Given the description of an element on the screen output the (x, y) to click on. 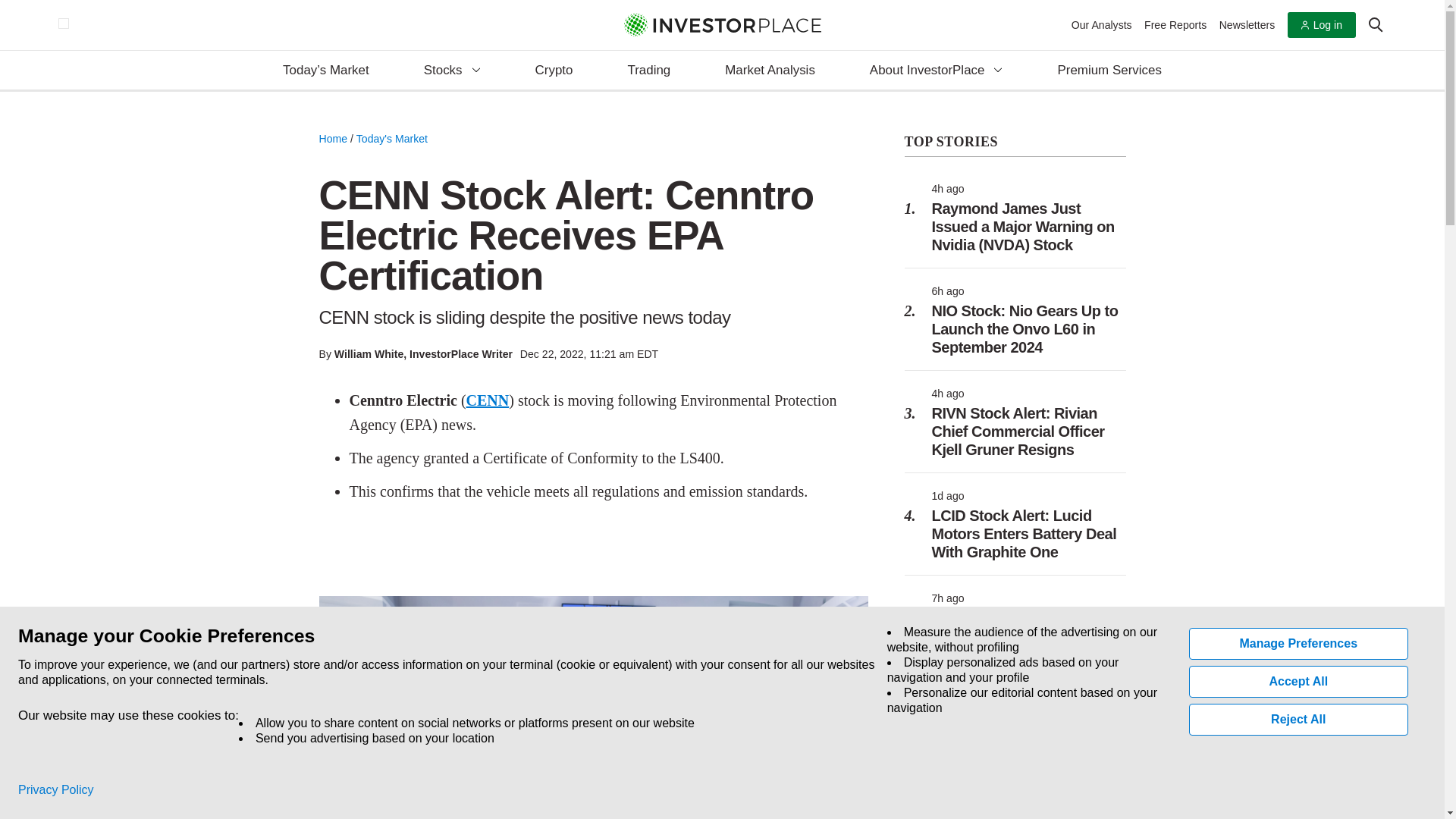
Accept All (1299, 681)
Reject All (1299, 719)
View Most Read Content (1014, 142)
Privacy Policy (55, 789)
Manage Preferences (1299, 644)
Free Reports (1175, 24)
Stocks (452, 70)
Newsletters (1247, 24)
View profile of William White (368, 354)
Log in (1321, 25)
Our Analysts (1101, 24)
